Given the description of an element on the screen output the (x, y) to click on. 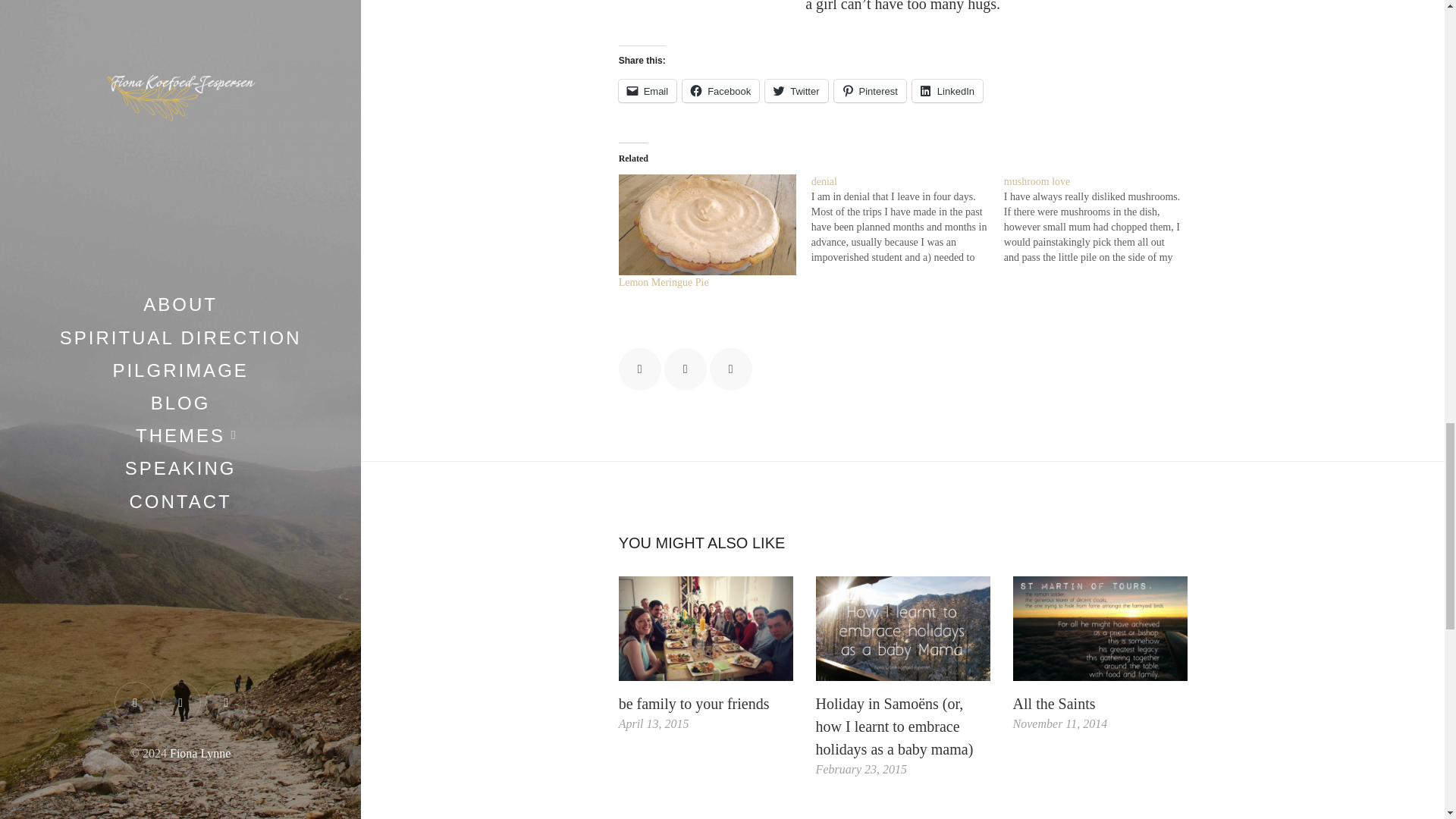
Click to share on Facebook (720, 90)
LinkedIn (947, 90)
Share on Facebook (639, 369)
Click to share on Twitter (796, 90)
Click to email a link to a friend (647, 90)
mushroom love (1100, 219)
Facebook (720, 90)
denial (823, 181)
Tweet It (684, 369)
Lemon Meringue Pie (663, 282)
Lemon Meringue Pie (707, 225)
Lemon Meringue Pie (663, 282)
be family to your friends (705, 628)
Click to share on LinkedIn (947, 90)
mushroom love (1037, 181)
